Given the description of an element on the screen output the (x, y) to click on. 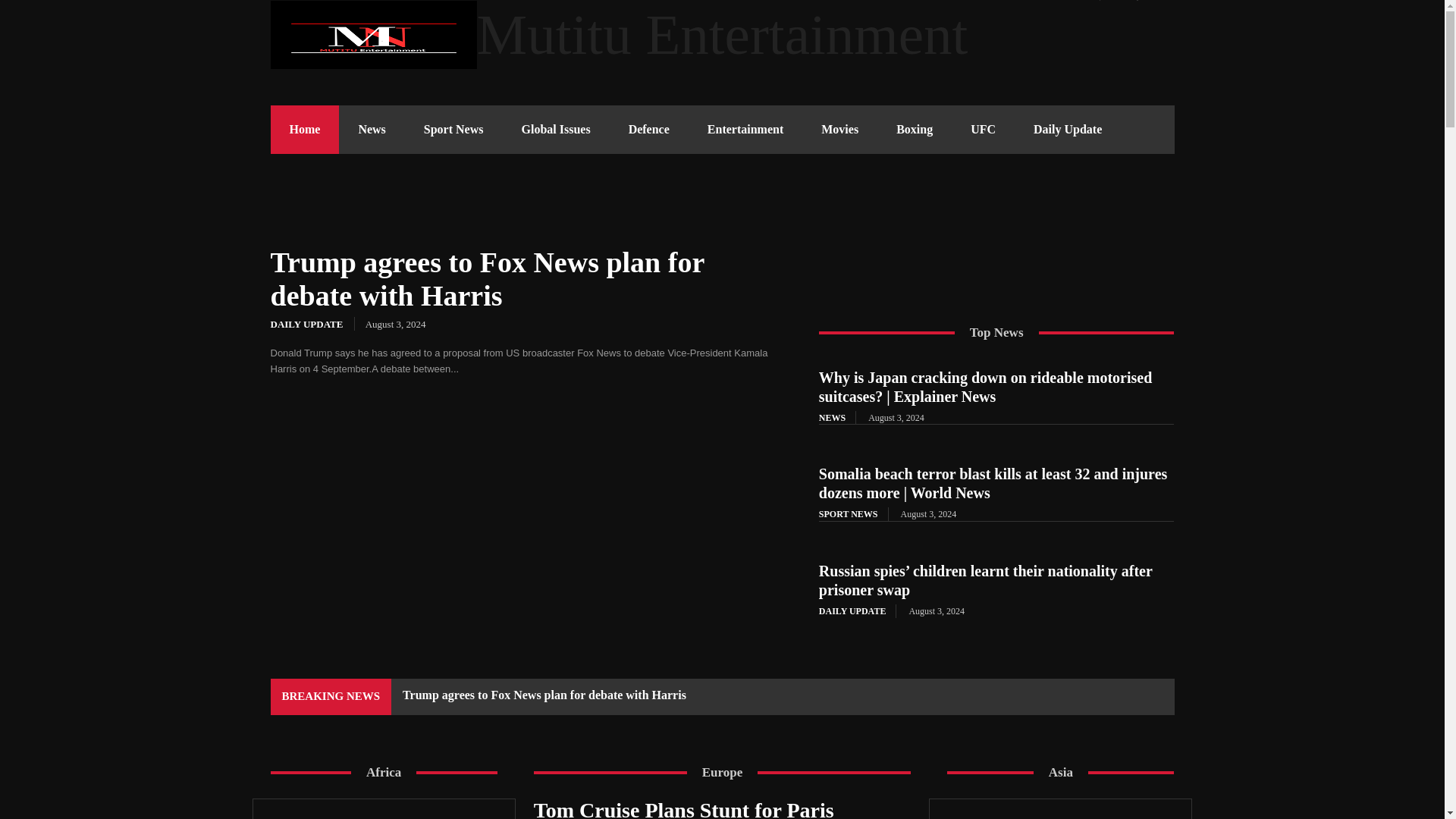
Defence (649, 129)
Movies (839, 129)
Boxing (914, 129)
Global Issues (555, 129)
Home (304, 129)
News (371, 129)
Sport News (453, 129)
UFC (983, 129)
Entertainment (745, 129)
Mutitu Entertainment (721, 34)
